Given the description of an element on the screen output the (x, y) to click on. 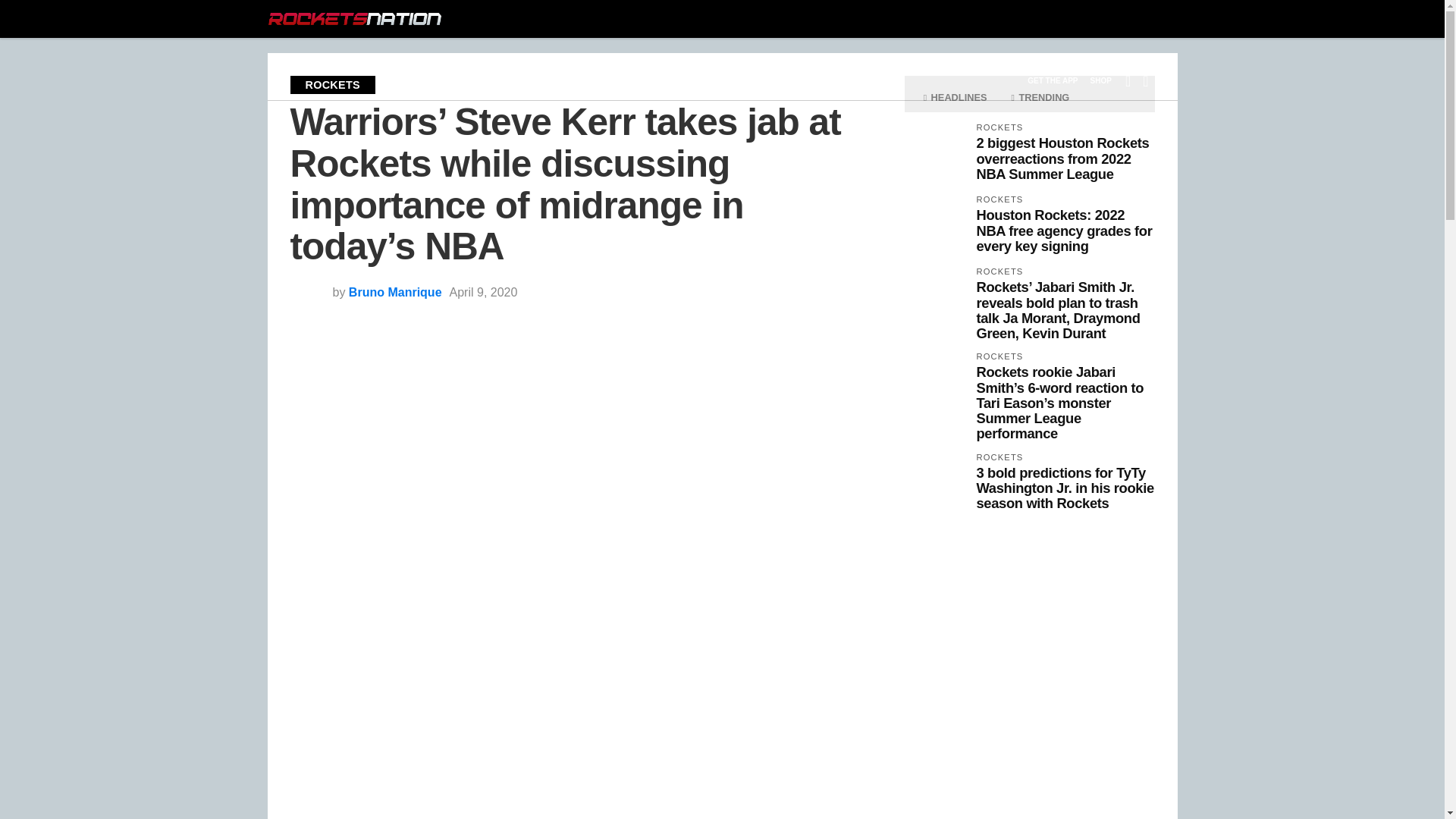
HEADLINES (954, 97)
Bruno Manrique (395, 291)
TRENDING (1039, 97)
Posts by Bruno Manrique (395, 291)
